Given the description of an element on the screen output the (x, y) to click on. 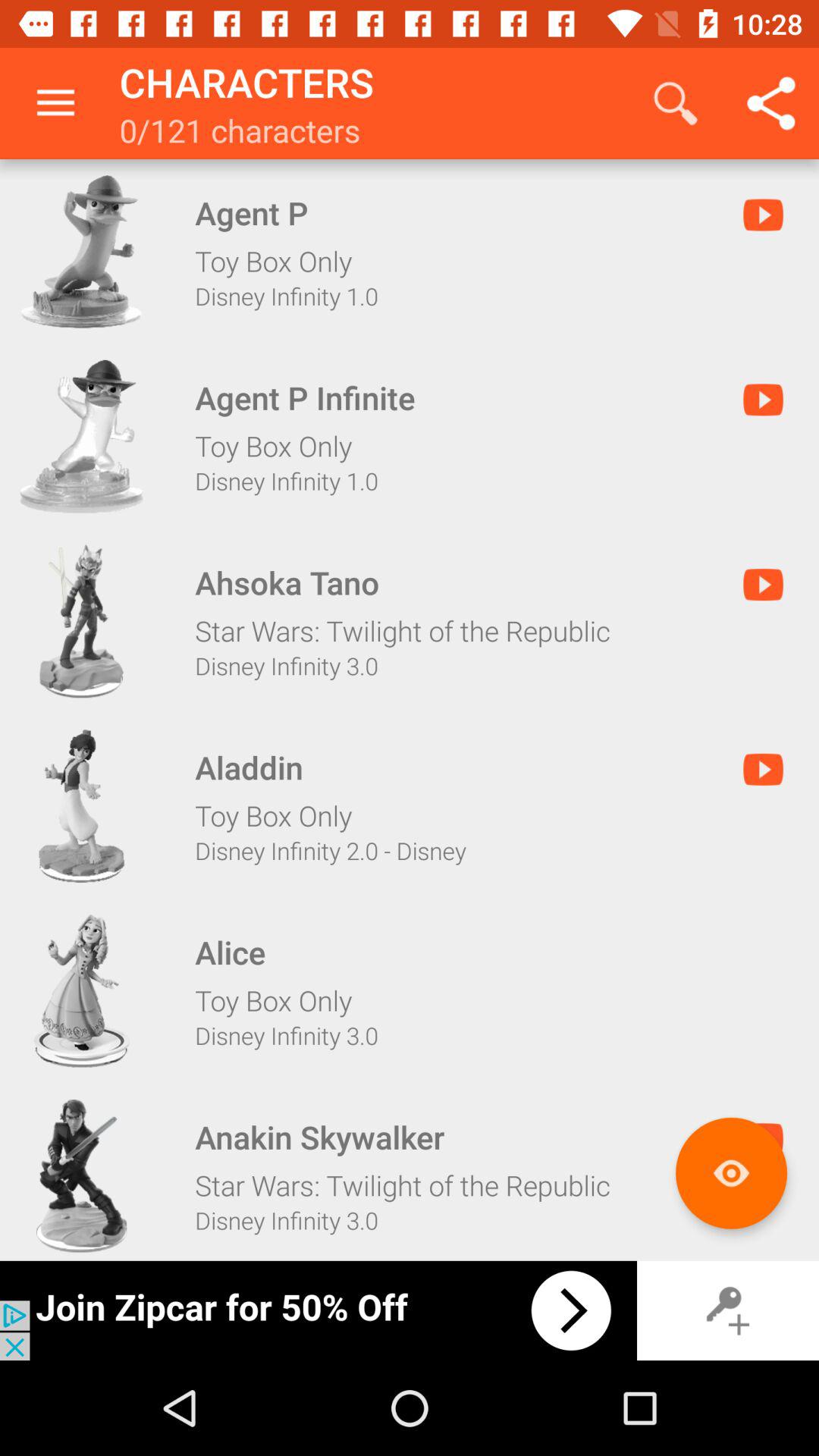
character (81, 251)
